Given the description of an element on the screen output the (x, y) to click on. 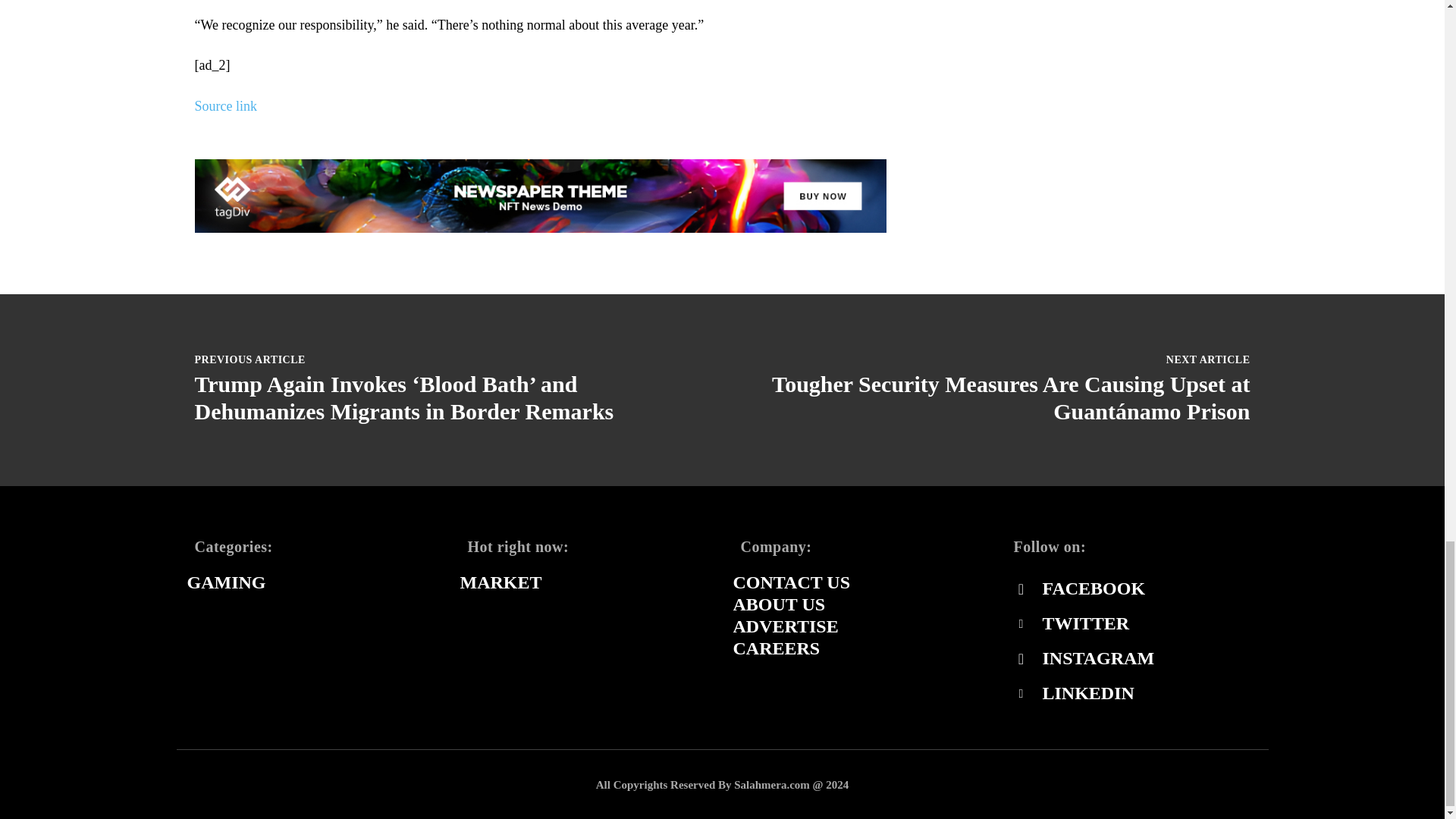
Source link (225, 105)
